Given the description of an element on the screen output the (x, y) to click on. 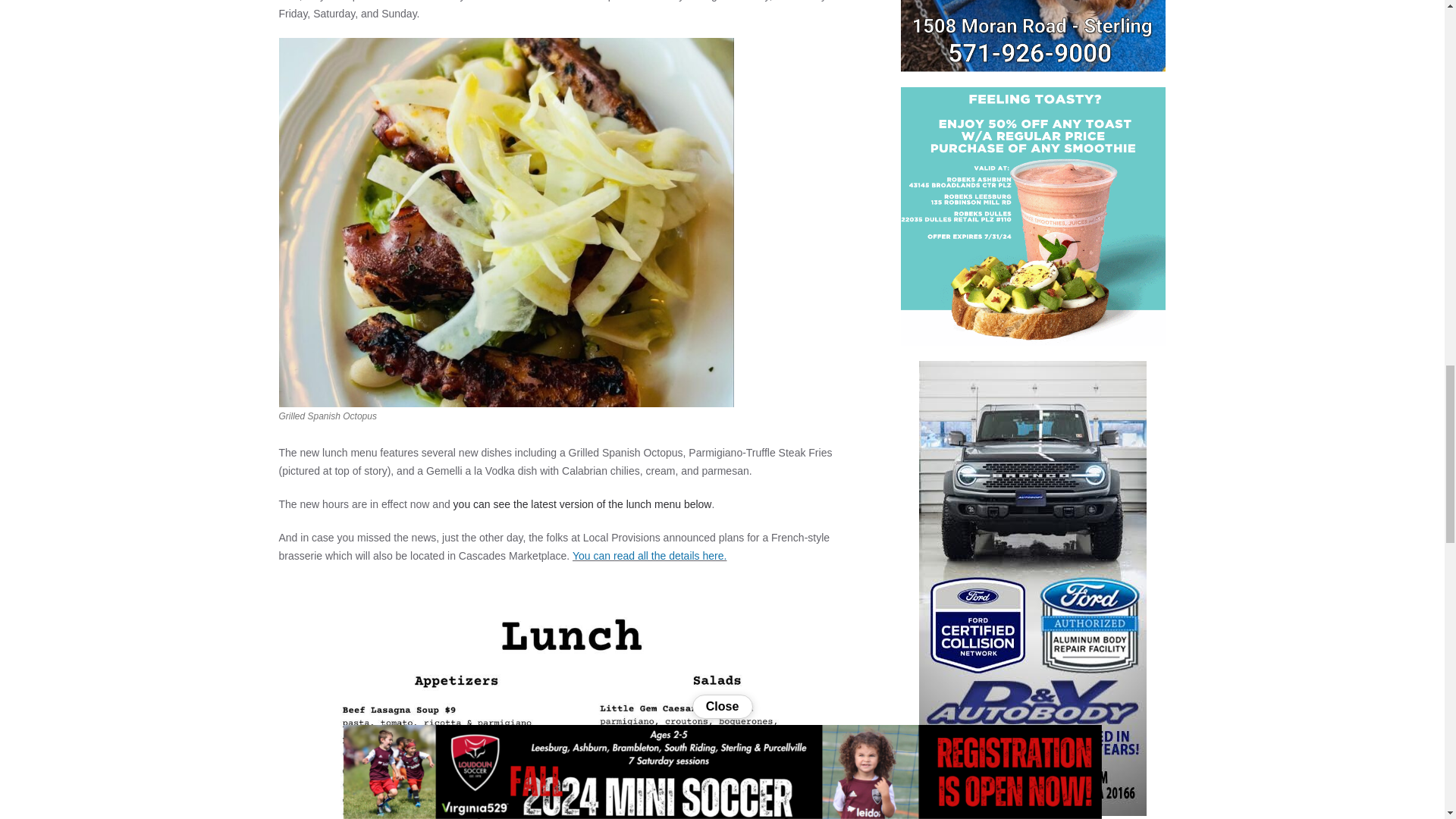
300x300 Club K9 Play (1033, 36)
You can read all the details here. (649, 555)
300x300 Robeks Toasty (1033, 215)
